Given the description of an element on the screen output the (x, y) to click on. 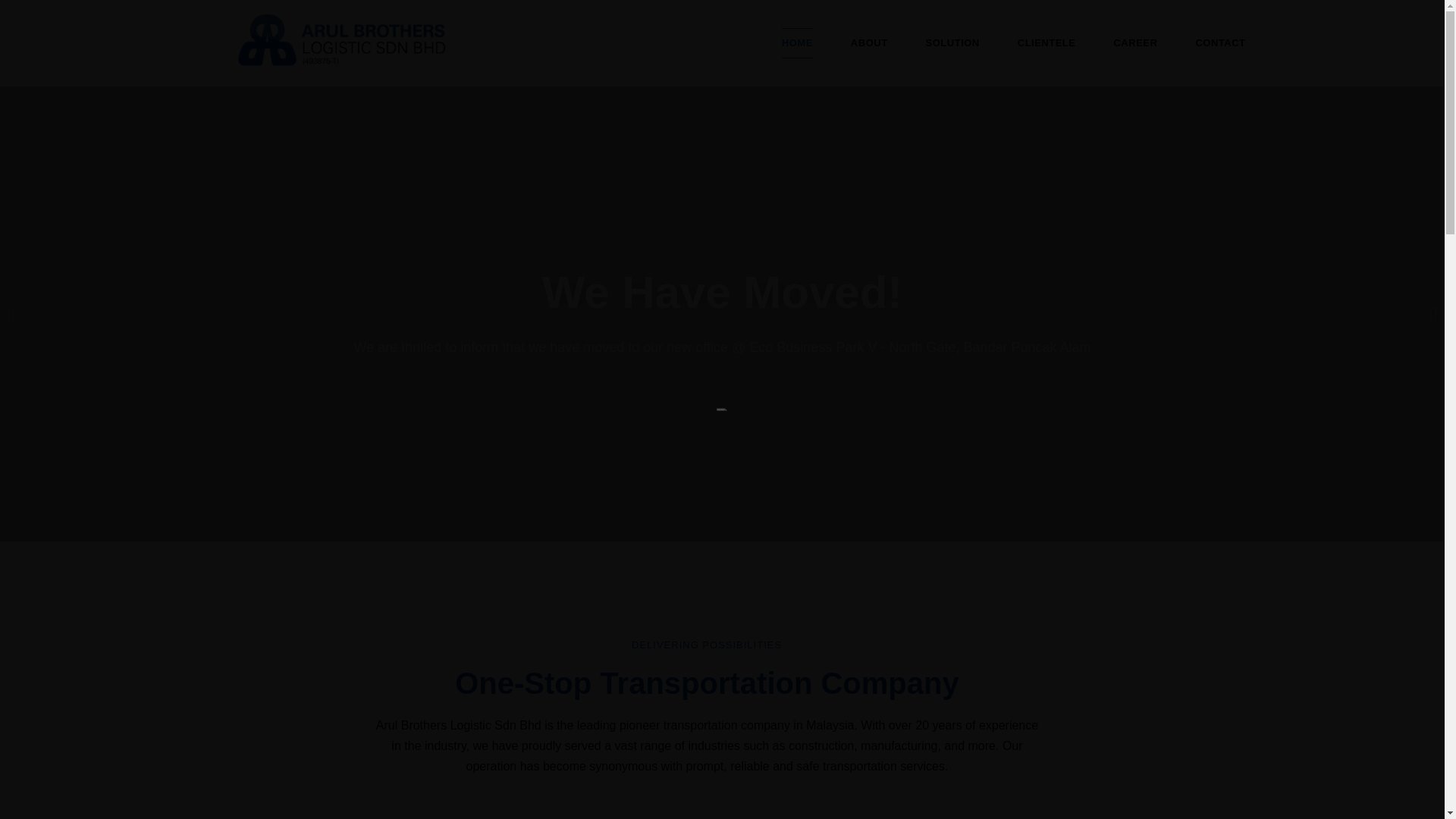
HOME (796, 42)
SOLUTION (952, 42)
ABOUT (869, 42)
logo-01 (341, 40)
CAREER (1135, 42)
CONTACT (1219, 42)
CLIENTELE (1046, 42)
